Given the description of an element on the screen output the (x, y) to click on. 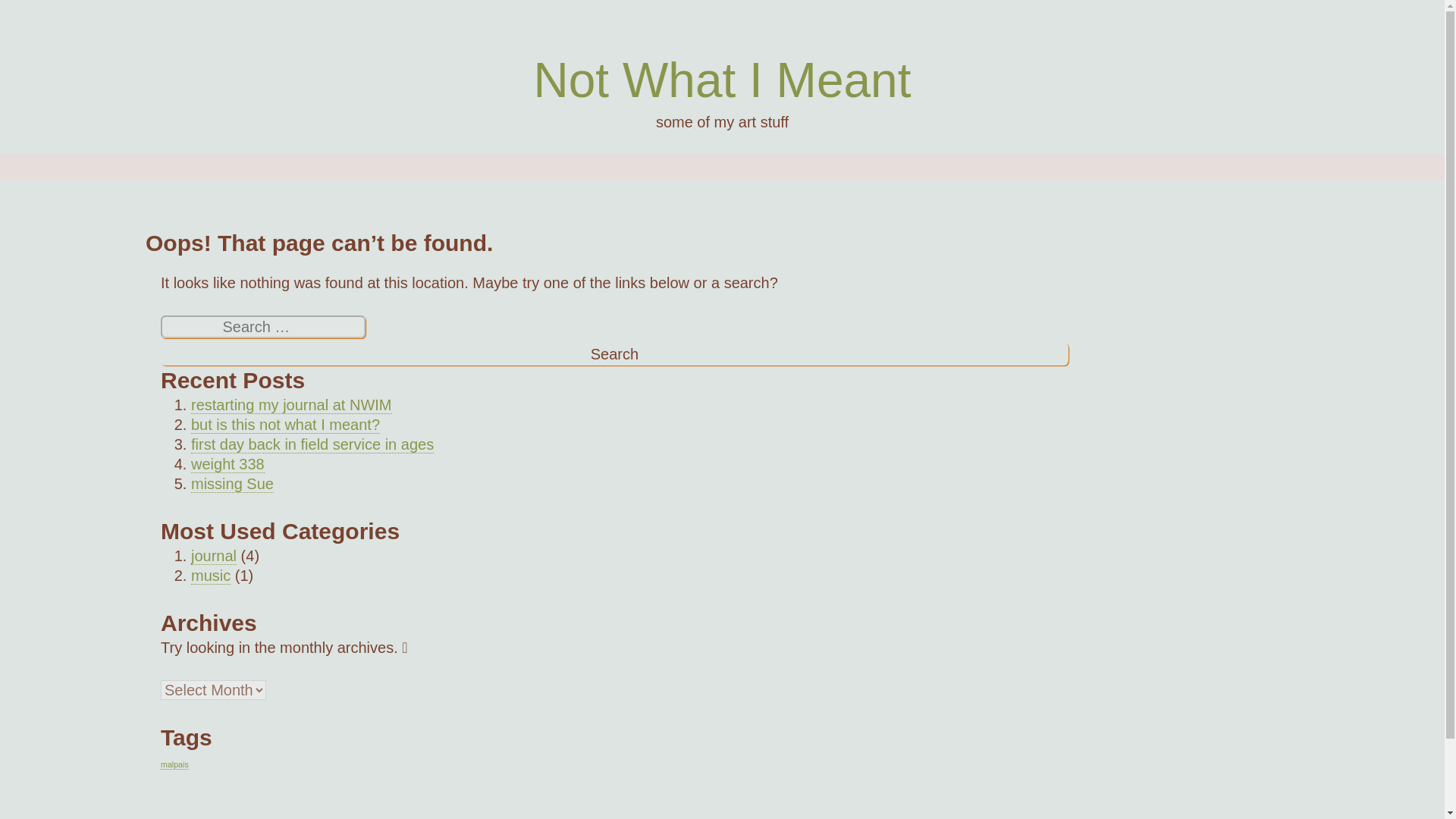
journal (212, 556)
malpais (174, 764)
Search (614, 354)
music (210, 575)
weight 338 (227, 464)
Search (614, 354)
Search (614, 354)
Not What I Meant (722, 80)
restarting my journal at NWIM (290, 405)
missing Sue (231, 484)
